Given the description of an element on the screen output the (x, y) to click on. 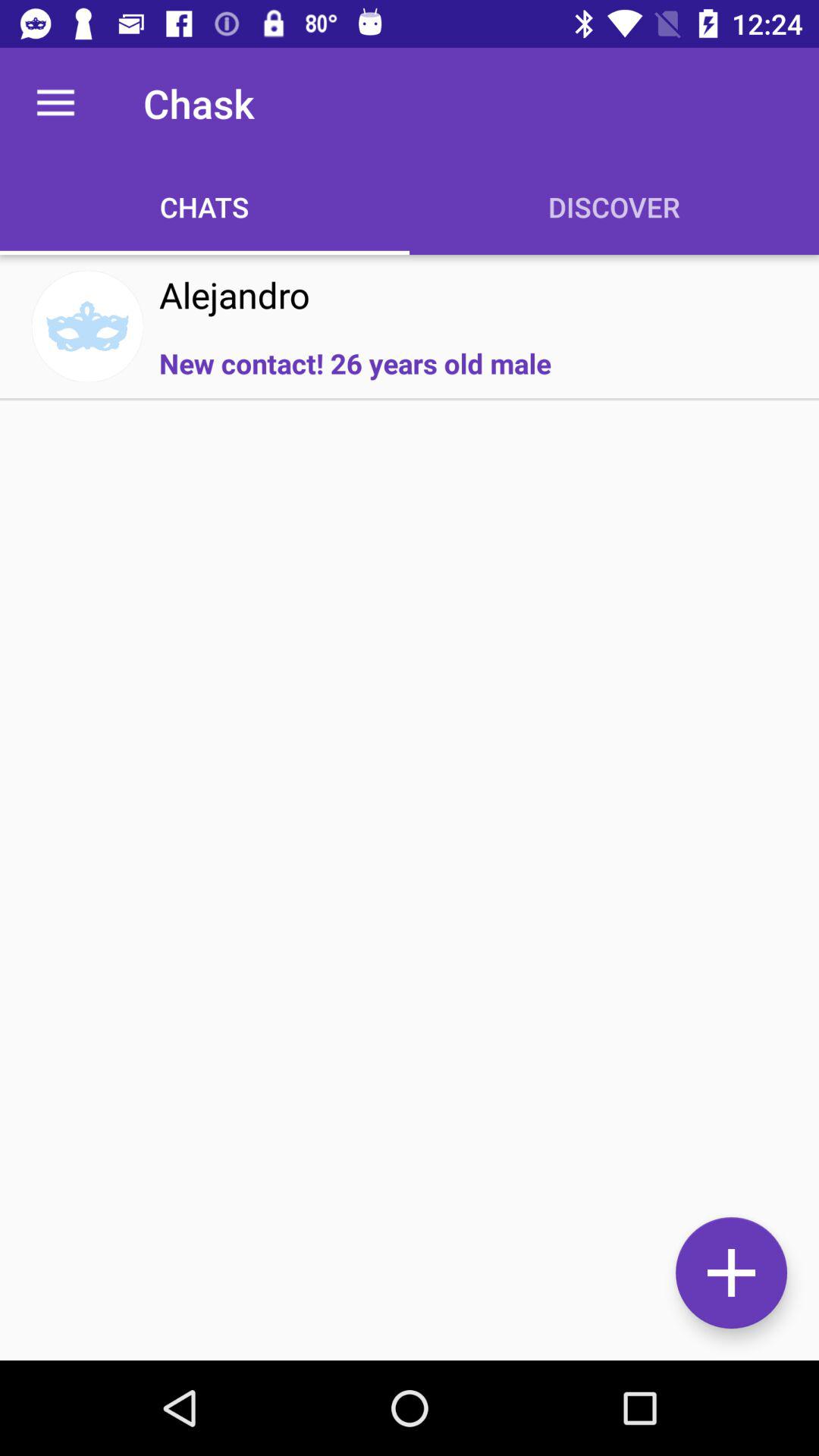
open the icon above new contact 26 icon (234, 294)
